Given the description of an element on the screen output the (x, y) to click on. 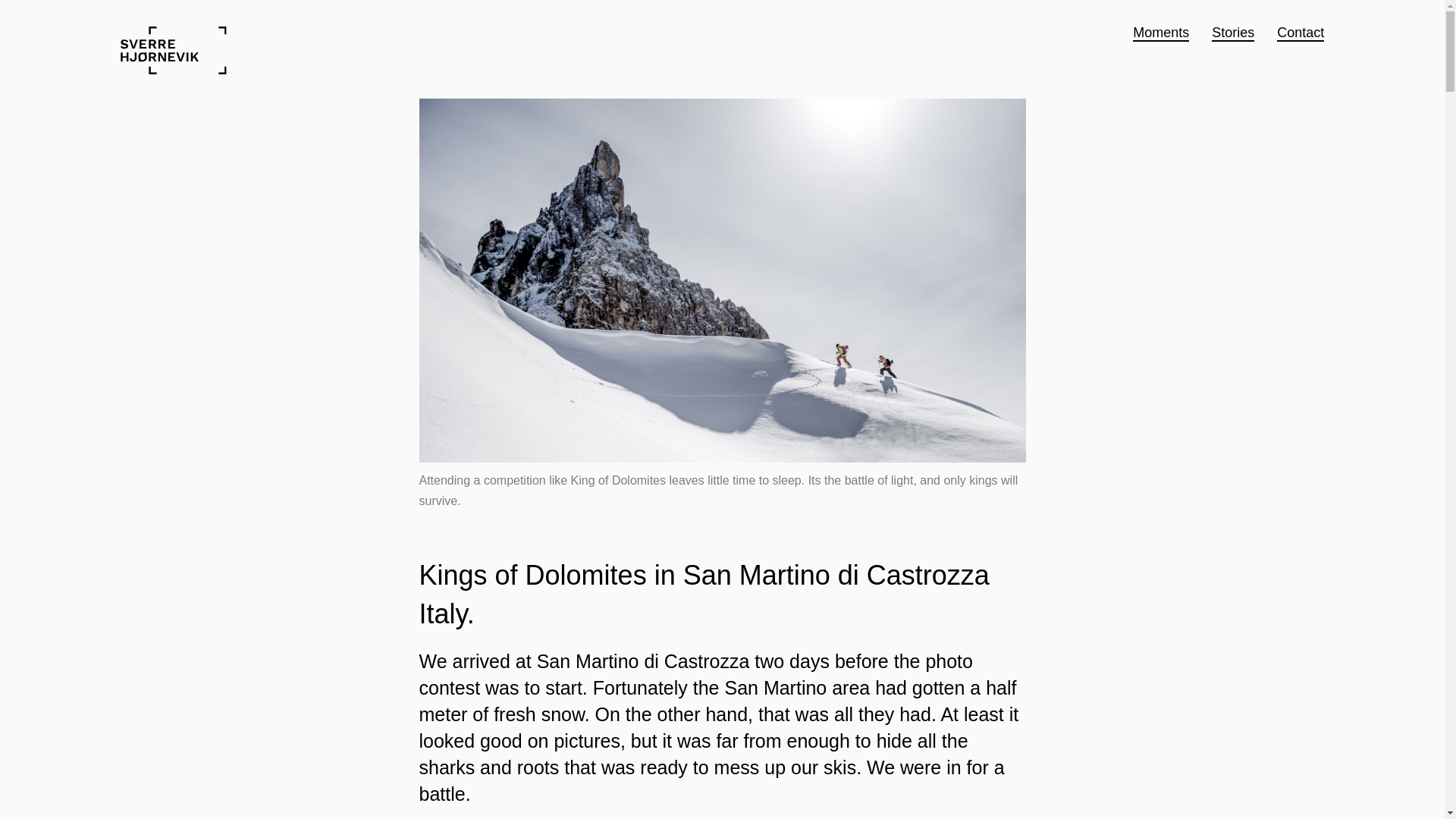
Contact (1299, 33)
Moments (1160, 33)
Stories (1232, 33)
